Given the description of an element on the screen output the (x, y) to click on. 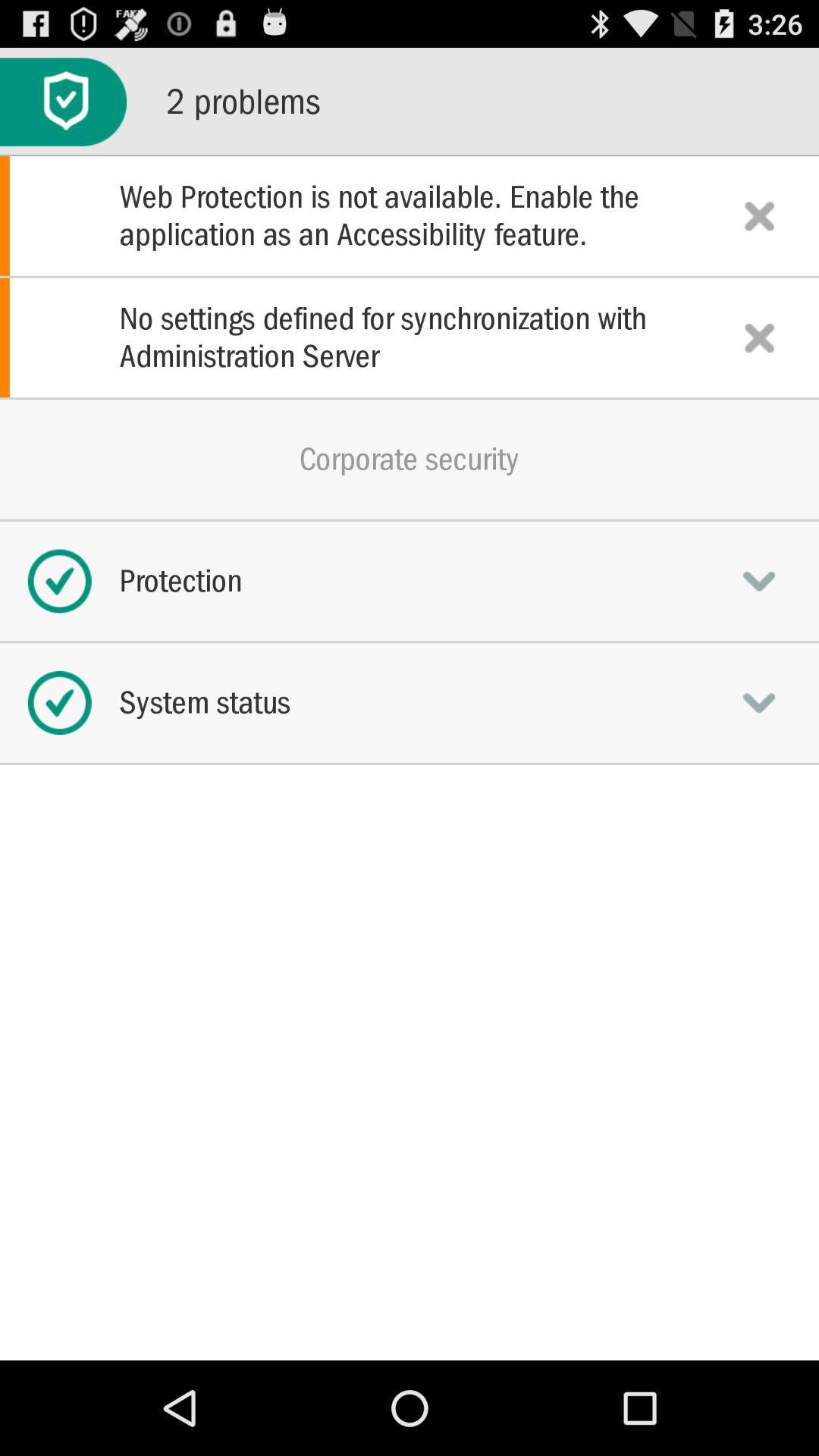
scan for virus (63, 102)
